Given the description of an element on the screen output the (x, y) to click on. 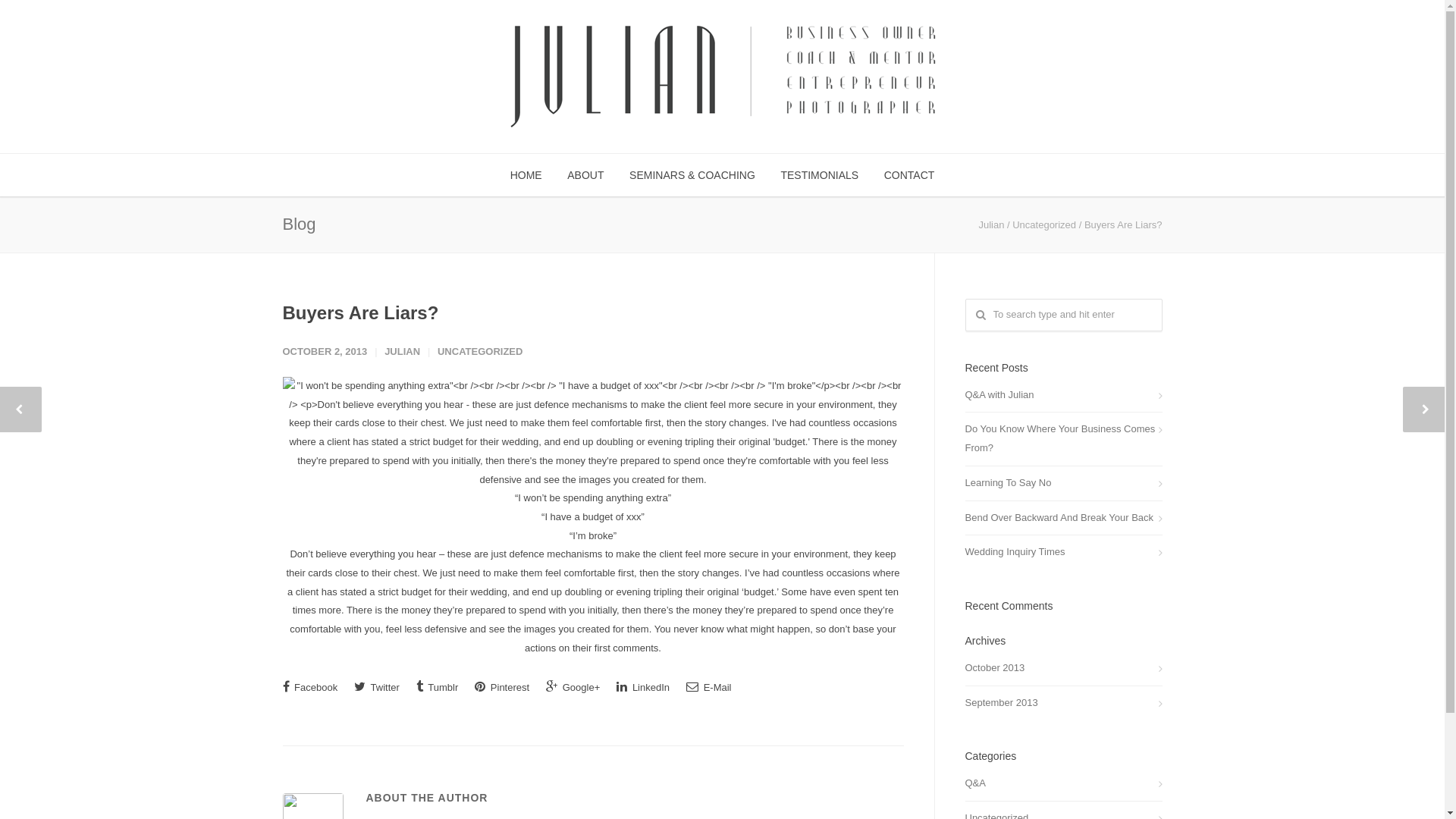
Uncategorized Element type: text (1044, 224)
October 2013 Element type: text (1062, 667)
SEMINARS & COACHING Element type: text (692, 174)
TESTIMONIALS Element type: text (818, 174)
Wedding Inquiry Times Element type: text (1062, 551)
ABOUT Element type: text (585, 174)
CONTACT Element type: text (909, 174)
Search Element type: text (39, 16)
JULIAN Element type: text (402, 351)
Buyers Are Liars? Element type: text (360, 312)
Learning To Say No Element type: text (1062, 482)
Bend Over Backward And Break Your Back Element type: text (1062, 517)
Facebook Element type: text (309, 685)
LinkedIn Element type: text (642, 685)
E-Mail Element type: text (708, 685)
Do You Know Where Your Business Comes From? Element type: text (1062, 438)
HOME Element type: text (525, 174)
Twitter Element type: text (376, 685)
Q&A Element type: text (1062, 783)
Q&A with Julian Element type: text (1062, 394)
UNCATEGORIZED Element type: text (479, 351)
Google+ Element type: text (572, 685)
Pinterest Element type: text (501, 685)
September 2013 Element type: text (1062, 702)
Julian Element type: text (991, 224)
Tumblr Element type: text (437, 685)
